Given the description of an element on the screen output the (x, y) to click on. 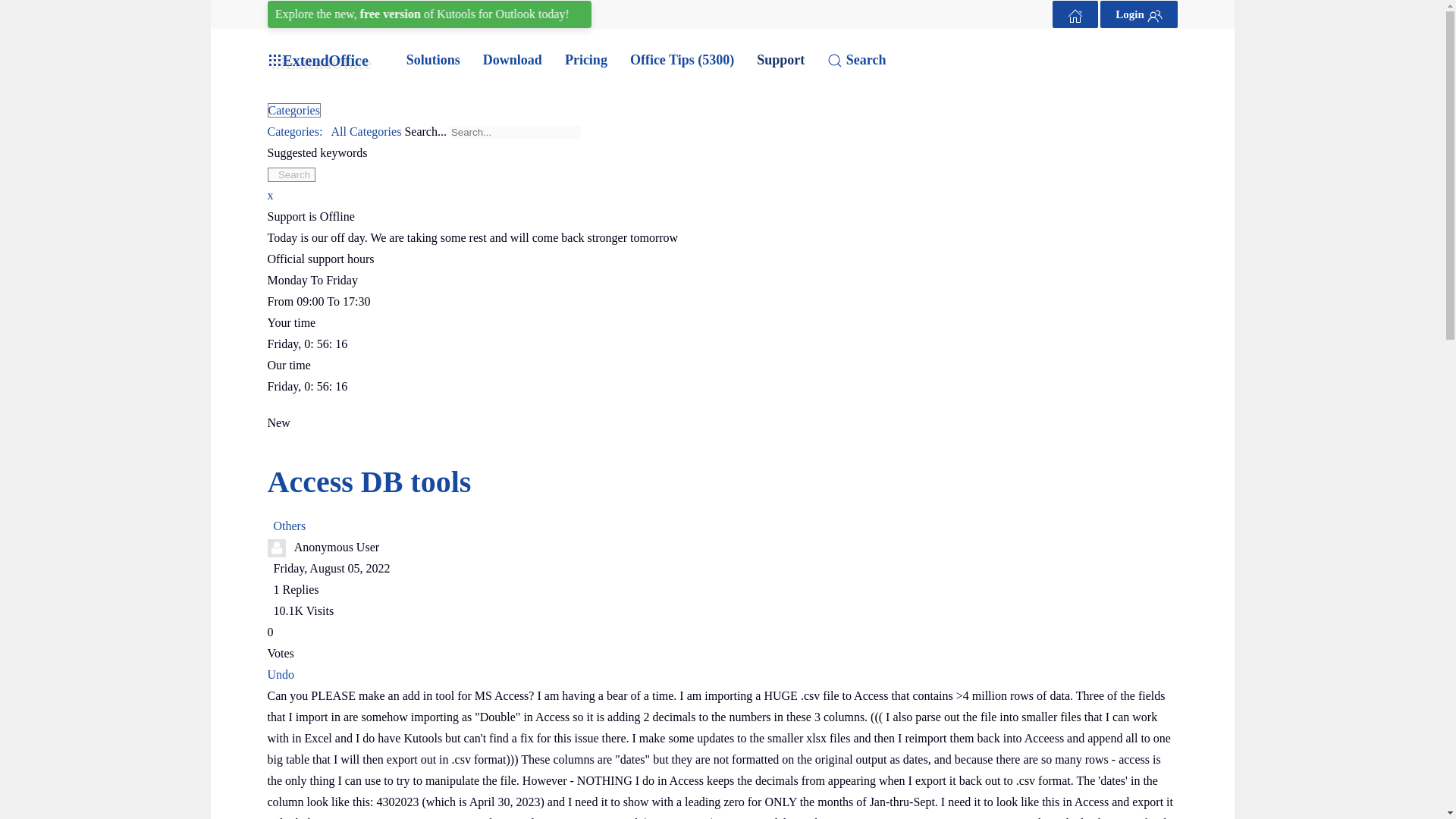
Categories (293, 110)
Categories (335, 131)
Back to Homepage (1074, 13)
Kutools for Outlook Free Version (439, 13)
